Given the description of an element on the screen output the (x, y) to click on. 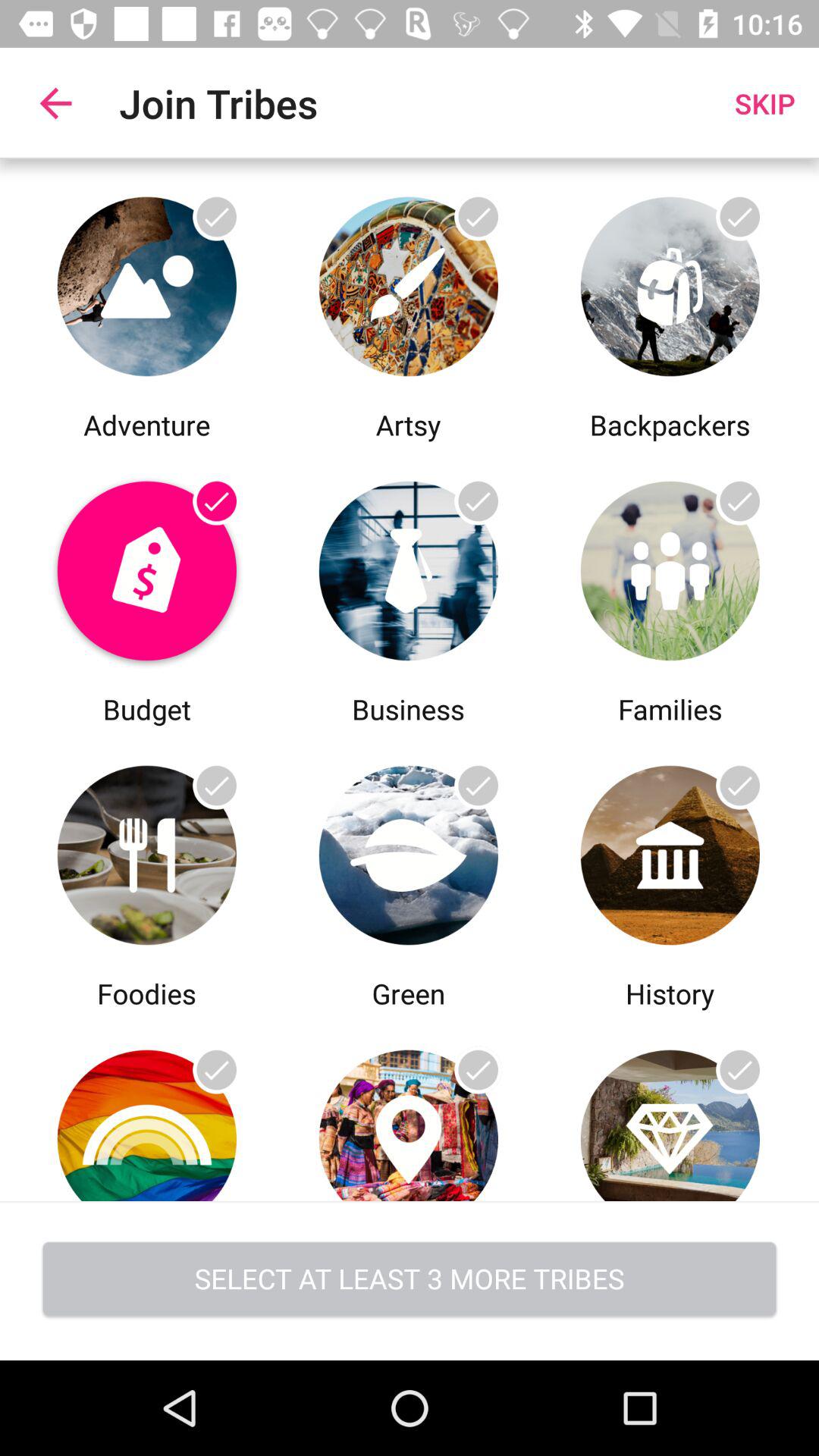
join adventure tribe (146, 282)
